Given the description of an element on the screen output the (x, y) to click on. 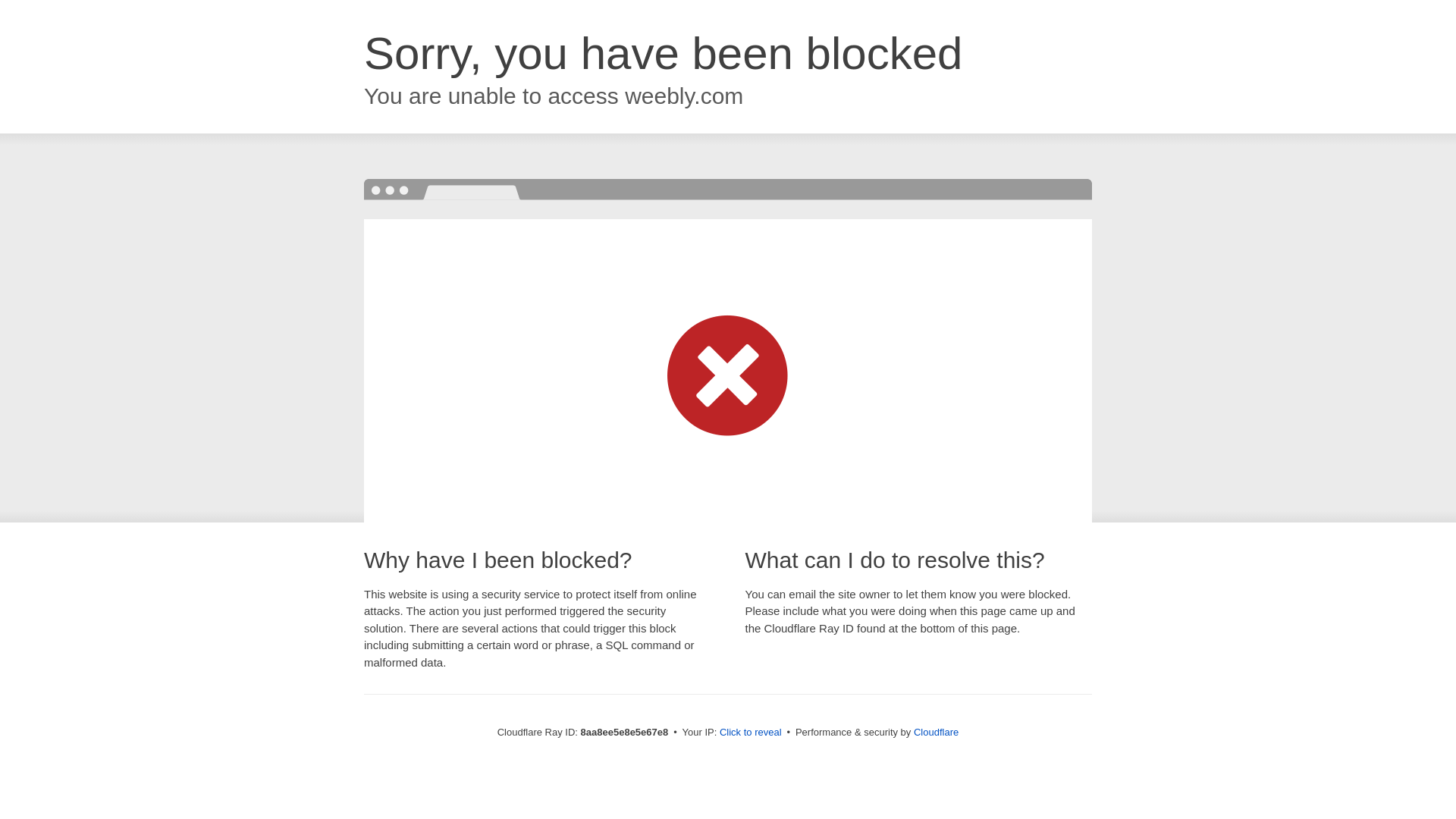
Click to reveal (750, 732)
Cloudflare (936, 731)
